Given the description of an element on the screen output the (x, y) to click on. 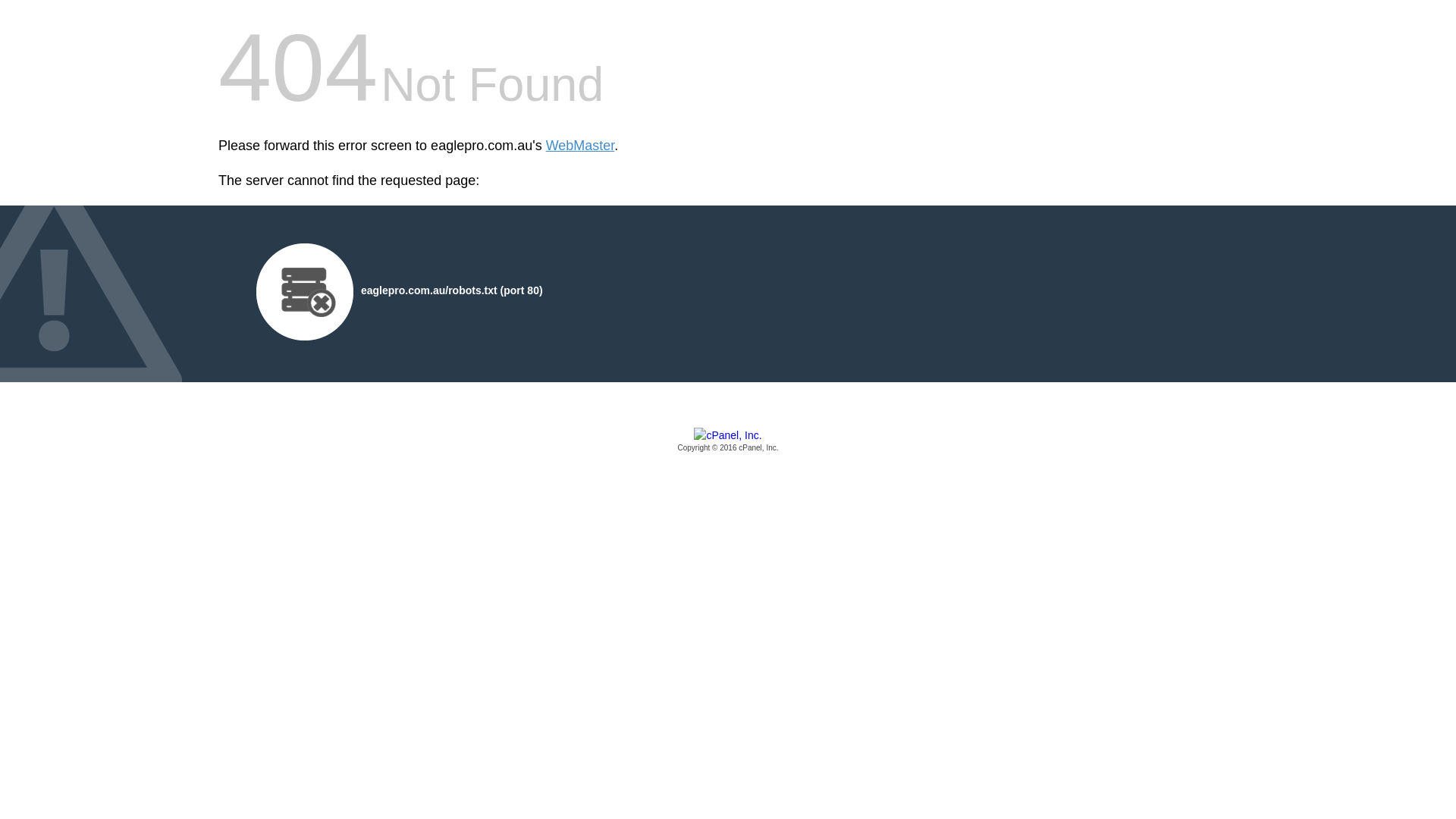
WebMaster Element type: text (580, 145)
